Given the description of an element on the screen output the (x, y) to click on. 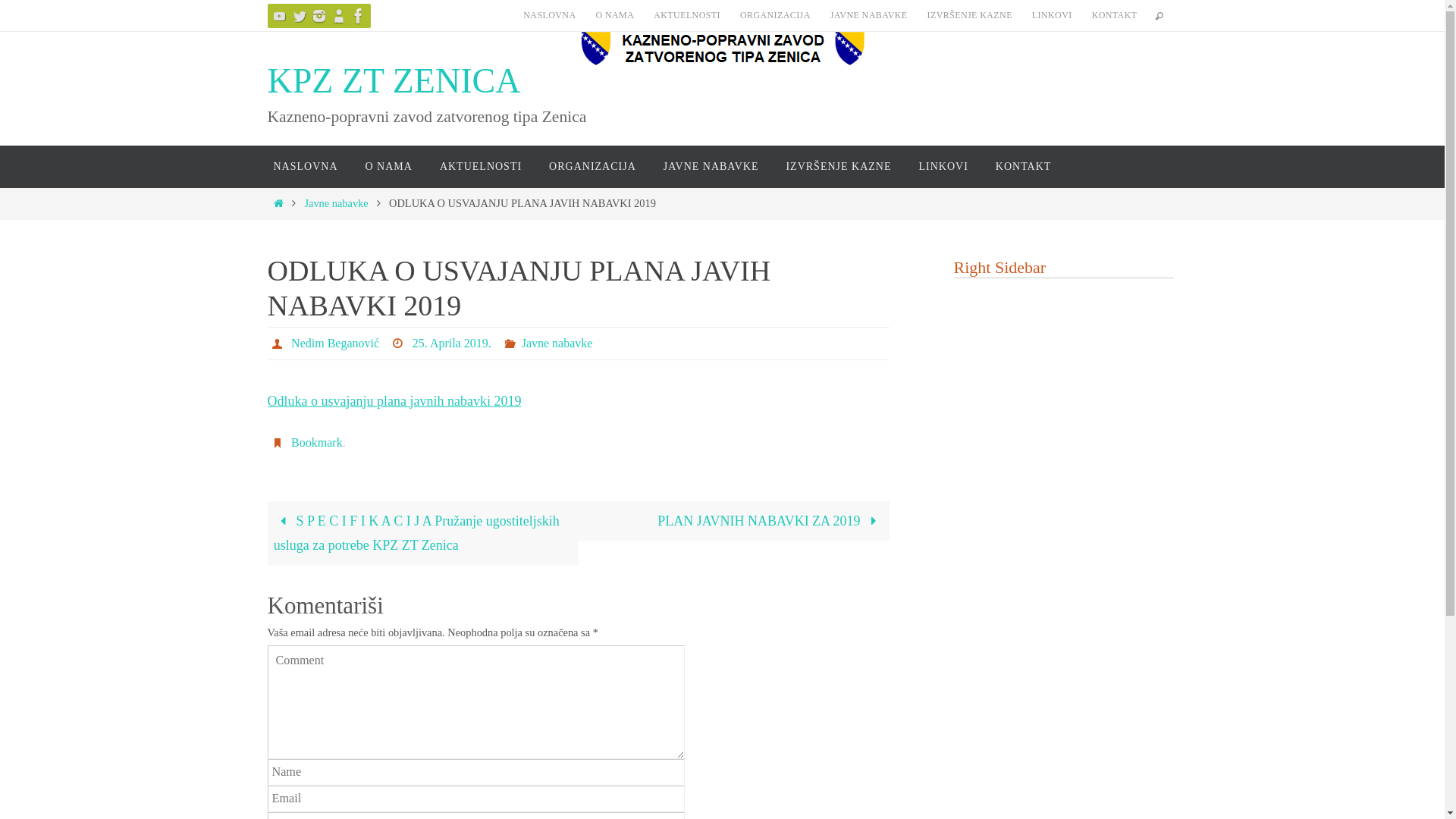
PLAN JAVNIH NABAVKI ZA 2019 Element type: text (732, 520)
KONTAKT Element type: text (1114, 15)
NASLOVNA Element type: text (549, 15)
Facebook Element type: hover (357, 15)
Bookmark Element type: text (316, 442)
NASLOVNA Element type: text (305, 166)
JAVNE NABAVKE Element type: text (710, 166)
KPZ ZT ZENICA Element type: text (393, 81)
Twitter Element type: hover (298, 15)
AboutMe Element type: hover (338, 15)
Home Element type: text (278, 203)
LINKOVI Element type: text (943, 166)
O NAMA Element type: text (614, 15)
ORGANIZACIJA Element type: text (775, 15)
JAVNE NABAVKE Element type: text (868, 15)
YouTube Element type: hover (278, 15)
 Bookmark the permalink Element type: hover (278, 442)
AKTUELNOSTI Element type: text (480, 166)
Javne nabavke Element type: text (335, 203)
Odluka o usvajanju plana javnih nabavki 2019 Element type: text (393, 399)
LINKOVI Element type: text (1051, 15)
Instagram Element type: hover (318, 15)
Author  Element type: hover (278, 342)
Date Element type: hover (399, 342)
25. Aprila 2019. Element type: text (451, 343)
KONTAKT Element type: text (1023, 166)
ORGANIZACIJA Element type: text (592, 166)
Categories Element type: hover (511, 342)
Javne nabavke Element type: text (557, 343)
KPZ ZT ZENICA Element type: hover (721, 48)
O NAMA Element type: text (388, 166)
AKTUELNOSTI Element type: text (687, 15)
